Given the description of an element on the screen output the (x, y) to click on. 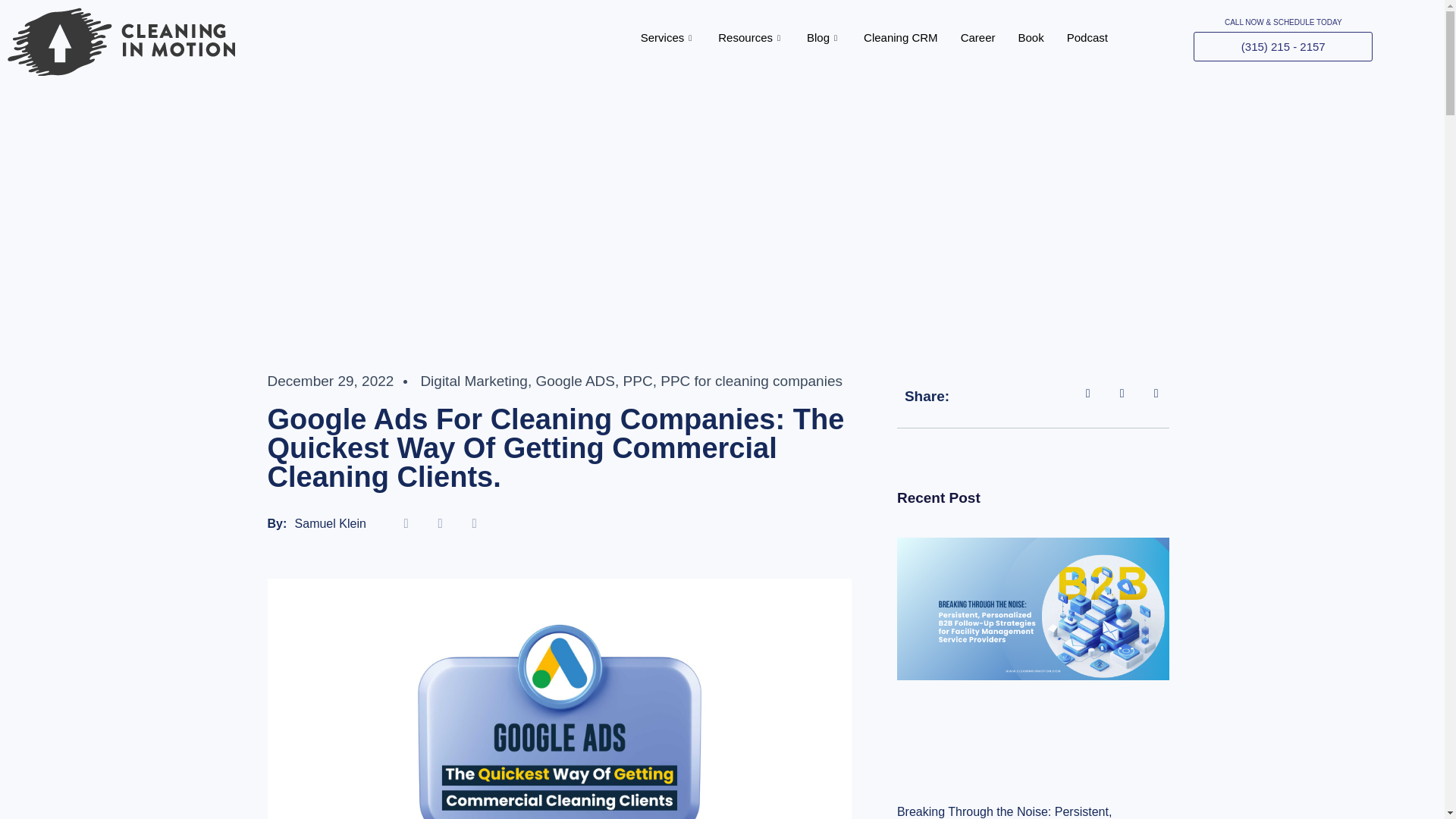
Cleaning CRM (900, 37)
Career (978, 37)
Blog (822, 37)
Podcast (1087, 37)
Resources (750, 37)
Services (667, 37)
December 29, 2022 (329, 380)
